Given the description of an element on the screen output the (x, y) to click on. 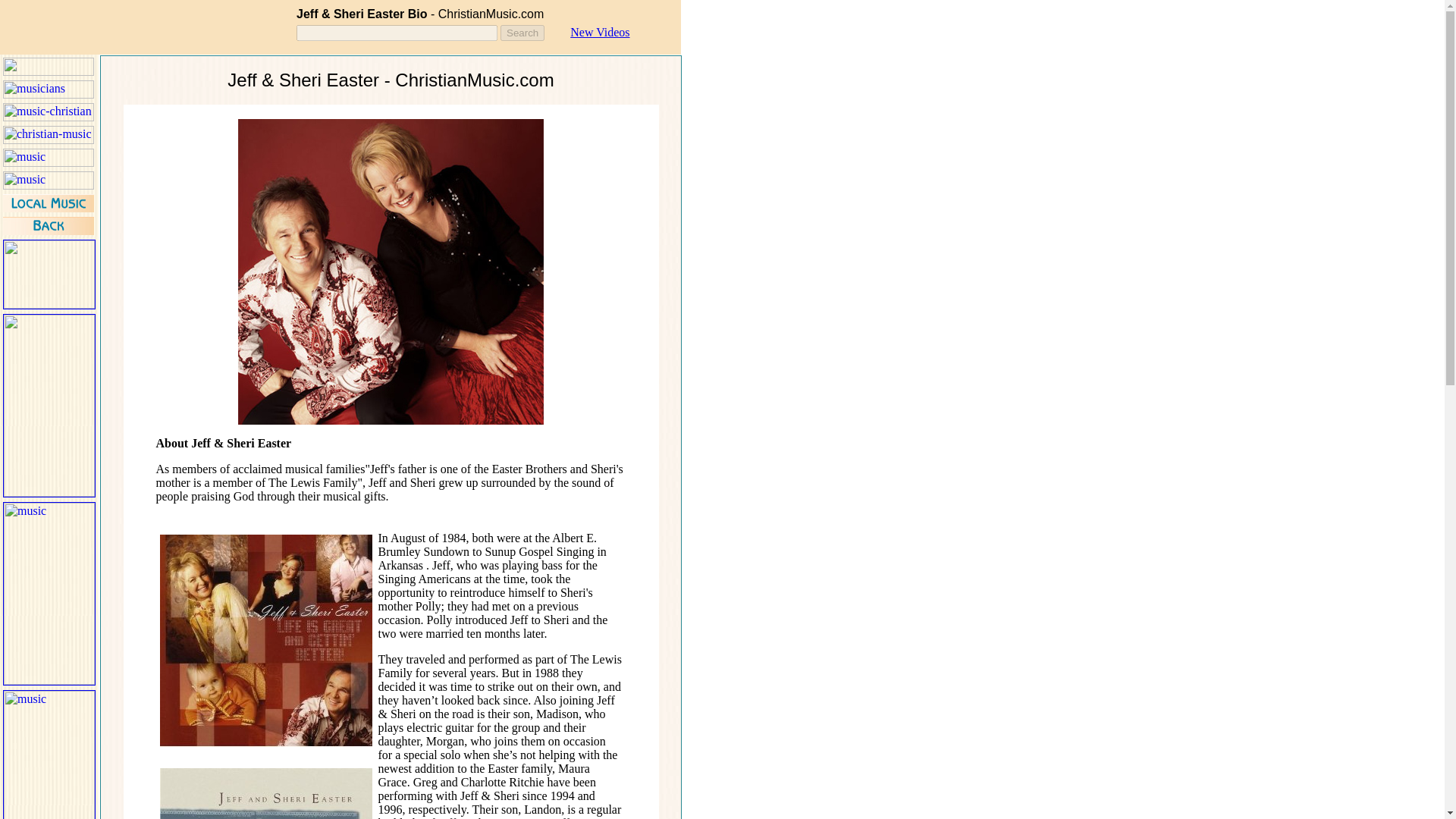
New Videos (599, 31)
Search (522, 32)
Search (522, 32)
